Given the description of an element on the screen output the (x, y) to click on. 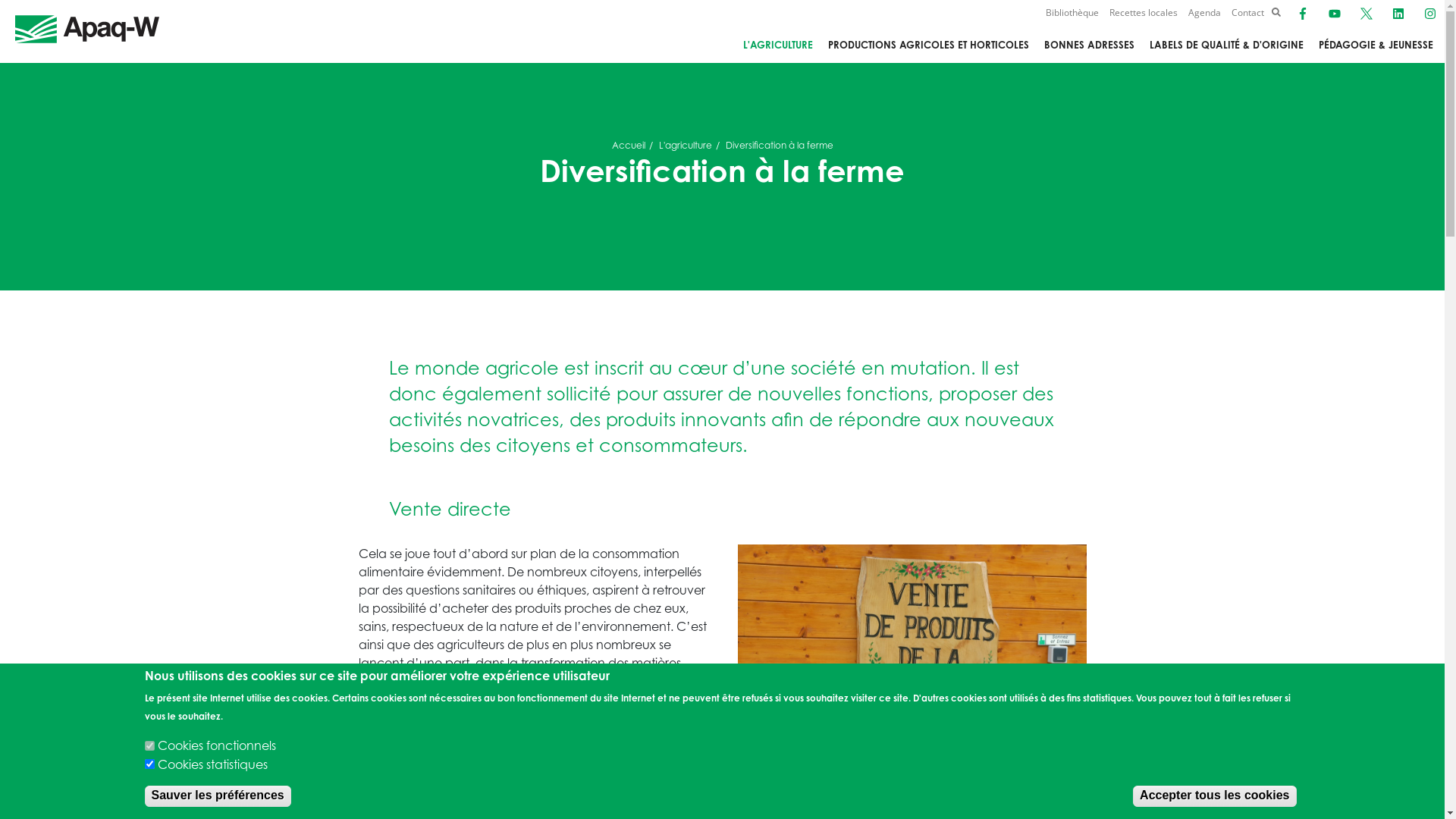
Recettes locales Element type: text (1143, 12)
Retirer le consentement Element type: text (1347, 789)
Agenda Element type: text (1204, 12)
Contact Element type: text (1247, 12)
PRODUCTIONS AGRICOLES ET HORTICOLES Element type: text (928, 45)
BONNES ADRESSES Element type: text (1089, 45)
Accepter tous les cookies Element type: text (1213, 795)
L'agriculture Element type: text (684, 144)
Accueil Element type: text (627, 144)
L'AGRICULTURE Element type: text (777, 45)
